Given the description of an element on the screen output the (x, y) to click on. 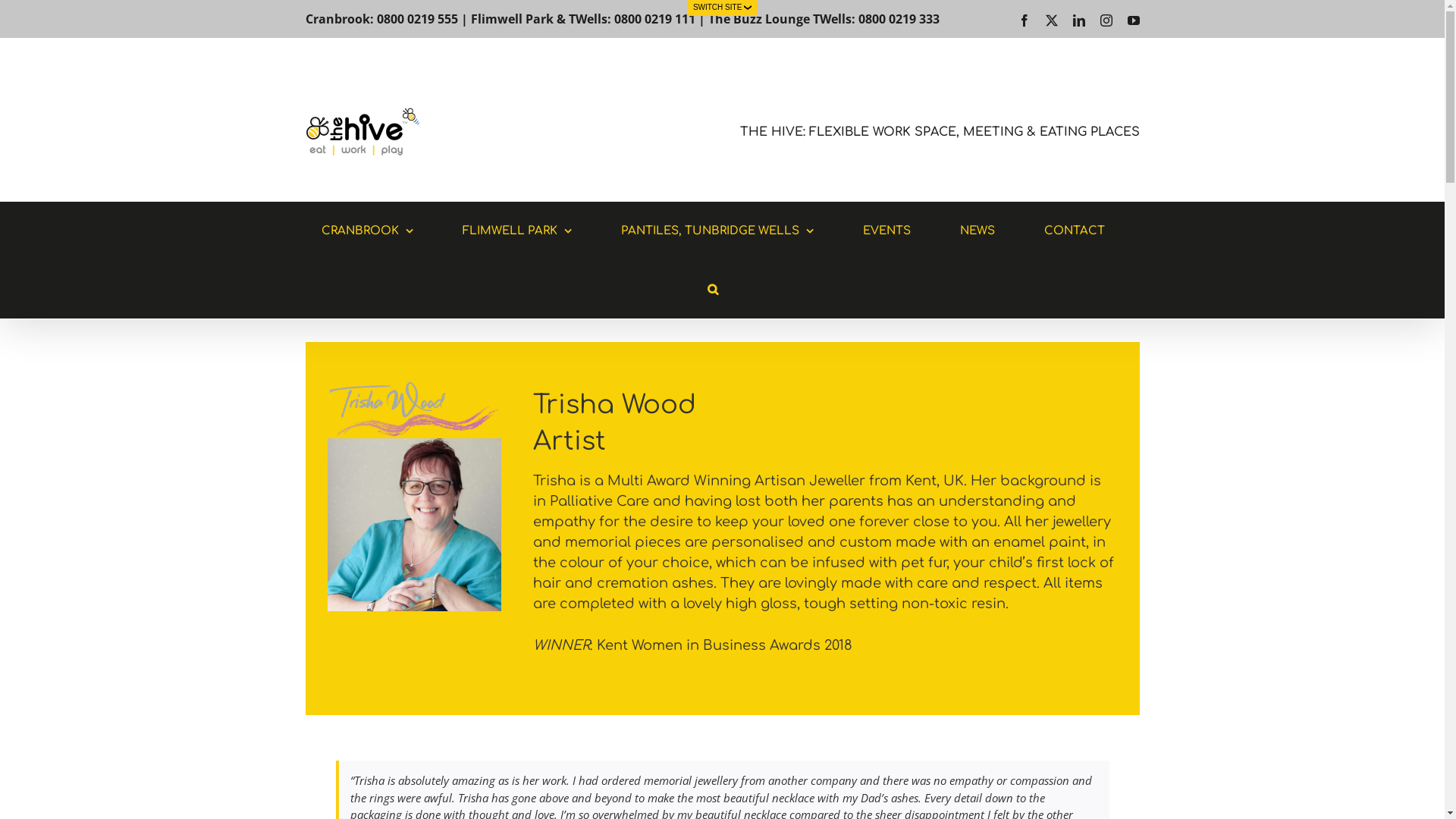
FLIMWELL PARK Element type: text (516, 230)
Facebook Element type: text (1023, 20)
Search Element type: hover (712, 289)
YouTube Element type: text (1132, 20)
Instagram Element type: text (1105, 20)
TrishaWood_Logo_RGB Element type: hover (414, 408)
LinkedIn Element type: text (1078, 20)
NEWS Element type: text (977, 230)
PANTILES, TUNBRIDGE WELLS Element type: text (716, 230)
CONTACT Element type: text (1073, 230)
Twitter Element type: text (1050, 20)
TrishaWood Element type: hover (414, 524)
CRANBROOK Element type: text (367, 230)
EVENTS Element type: text (886, 230)
